Given the description of an element on the screen output the (x, y) to click on. 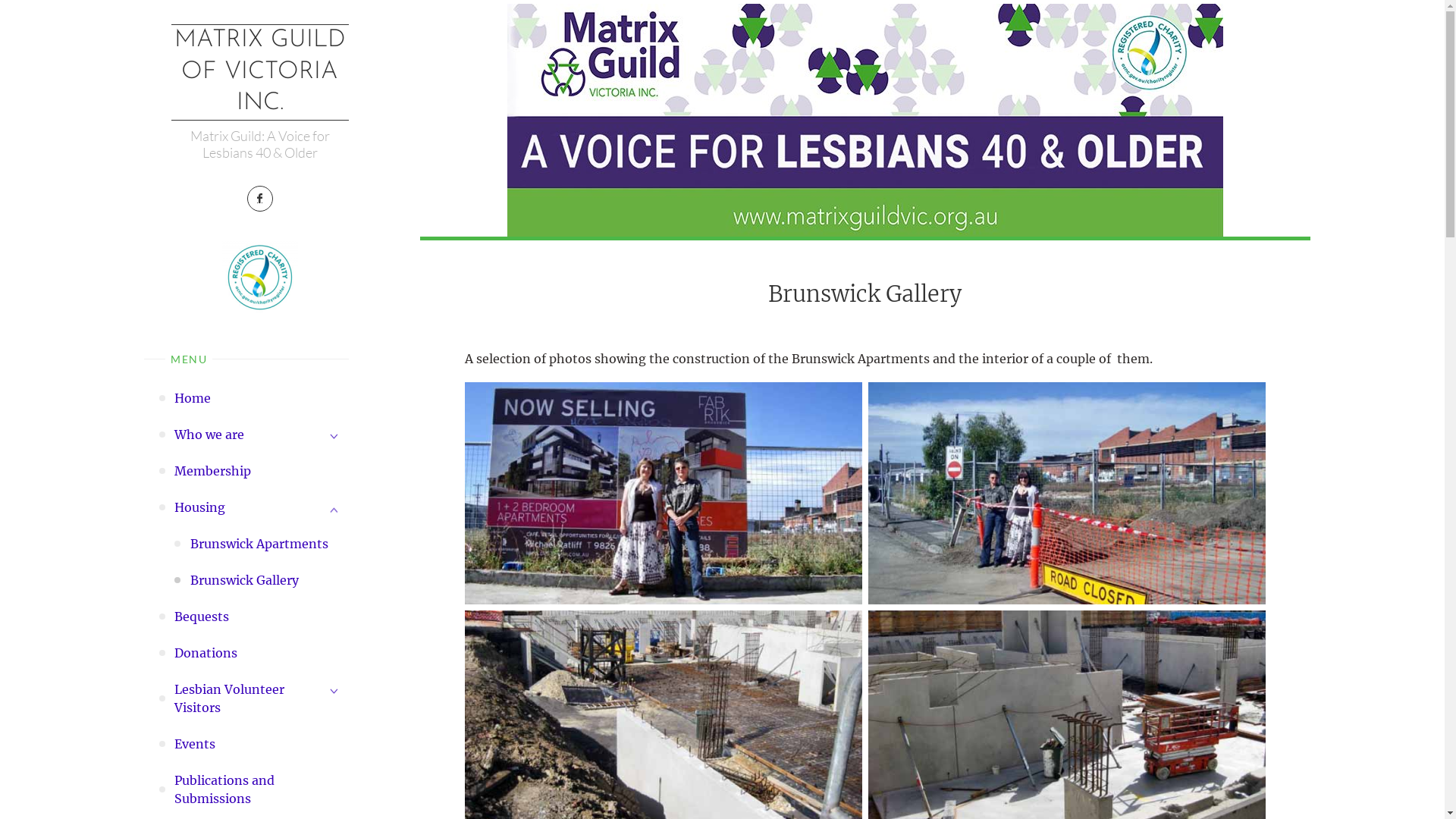
Facebook Element type: hover (260, 198)
Brunswick Gallery Element type: text (244, 579)
Membership Element type: text (212, 470)
Bequests Element type: text (201, 616)
Events Element type: text (194, 743)
Publications and Submissions Element type: text (261, 789)
MATRIX GUILD OF VICTORIA INC. Element type: text (259, 72)
Home Element type: text (192, 397)
Housing Element type: text (199, 507)
Brunswick Apartments Element type: text (259, 543)
Lesbian Volunteer Visitors Element type: text (242, 698)
Donations Element type: text (205, 652)
Who we are Element type: text (209, 434)
Brunswick Gallery Element type: hover (864, 119)
